Given the description of an element on the screen output the (x, y) to click on. 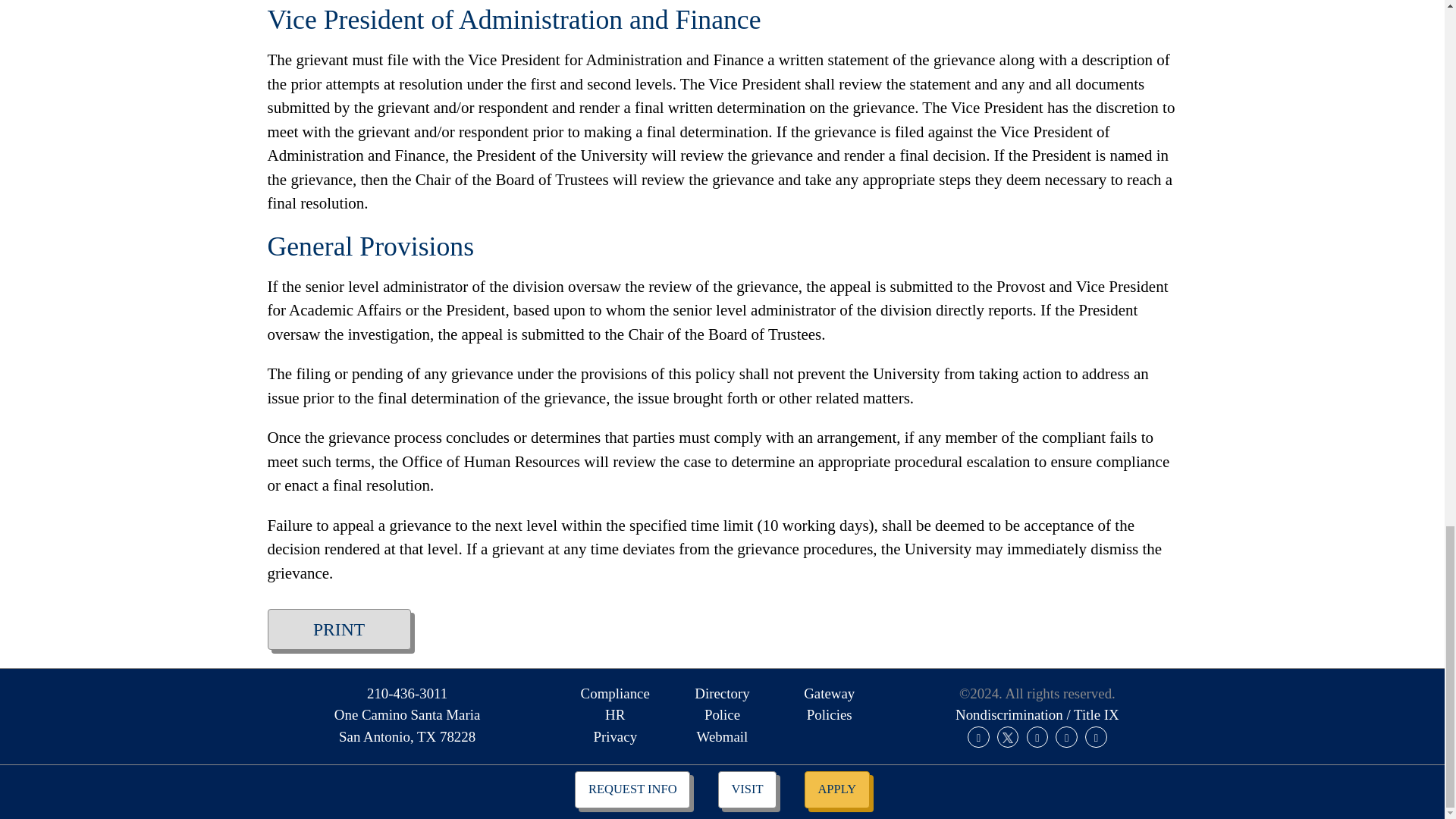
210-436-3011 (406, 693)
Pinterest (1095, 736)
Policies (829, 714)
List of social media accounts (1036, 736)
PRINT (338, 629)
Gateway (829, 693)
Directory (406, 725)
YouTube (722, 693)
Instagram (1037, 736)
